Given the description of an element on the screen output the (x, y) to click on. 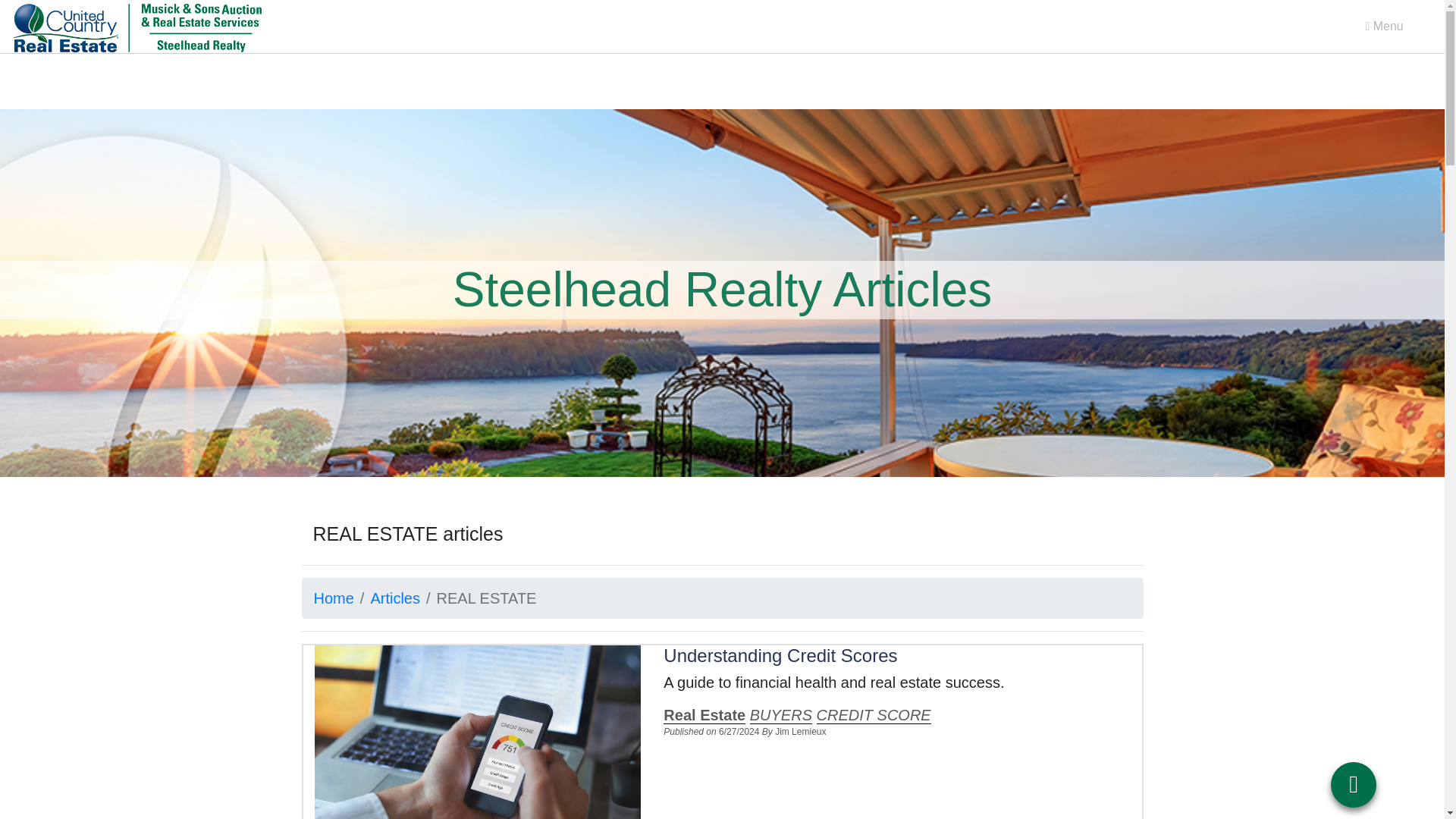
Real Estate (704, 714)
Understanding Credit Scores (779, 655)
Articles (394, 597)
CREDIT SCORE (873, 714)
BUYERS (780, 714)
Home (333, 597)
